Given the description of an element on the screen output the (x, y) to click on. 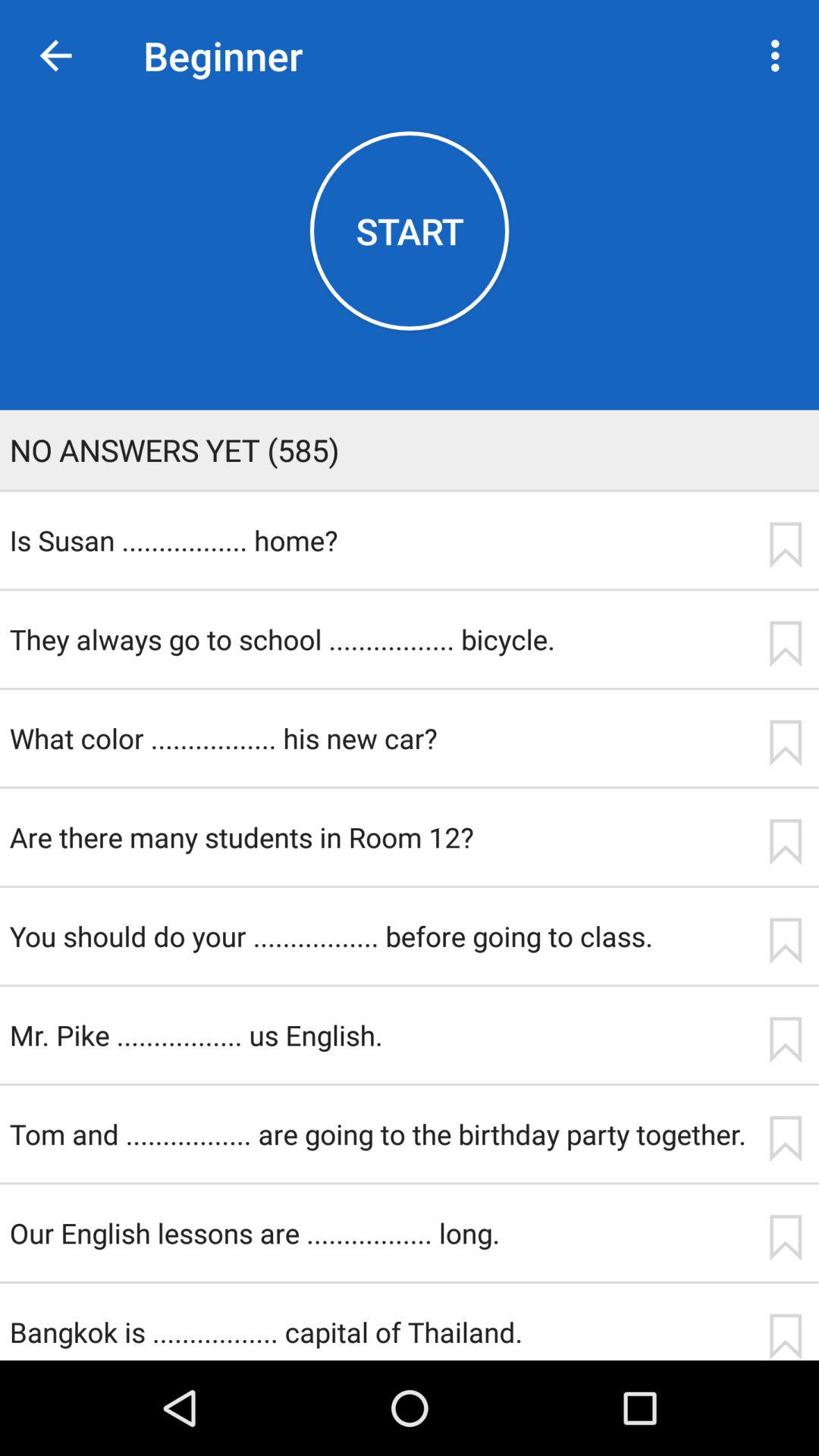
launch item to the right of the is susan ................. home?  app (784, 544)
